Given the description of an element on the screen output the (x, y) to click on. 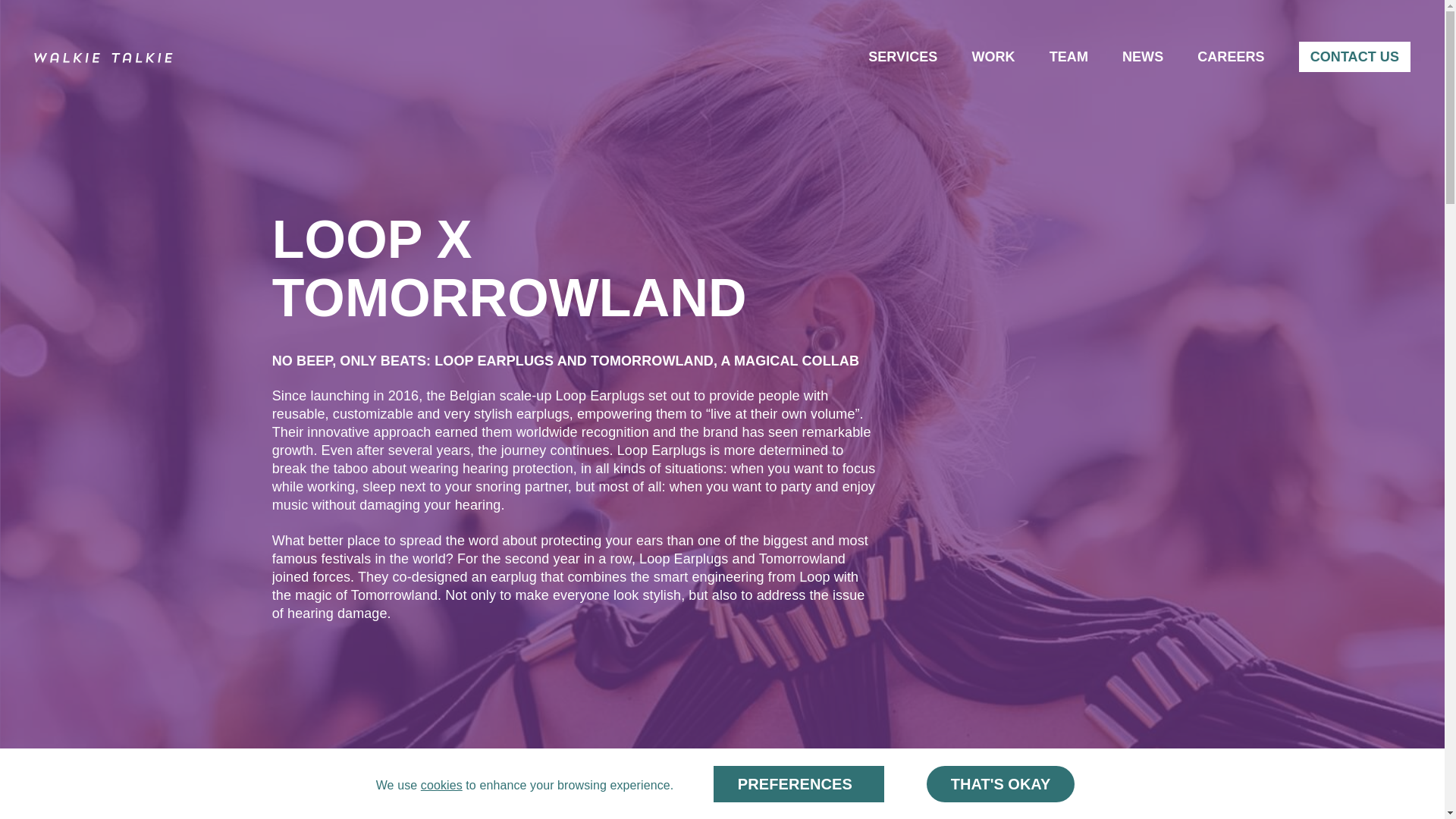
News (1142, 56)
cookies (441, 784)
SERVICES (902, 56)
Team (1068, 56)
PREFERENCES (798, 783)
CONTACT US (1354, 57)
Services (902, 56)
WORK (992, 56)
NEWS (1142, 56)
TEAM (1068, 56)
Work (992, 56)
To the Homepage (103, 57)
Careers (1229, 56)
CAREERS (1229, 56)
THAT'S OKAY (1000, 783)
